Given the description of an element on the screen output the (x, y) to click on. 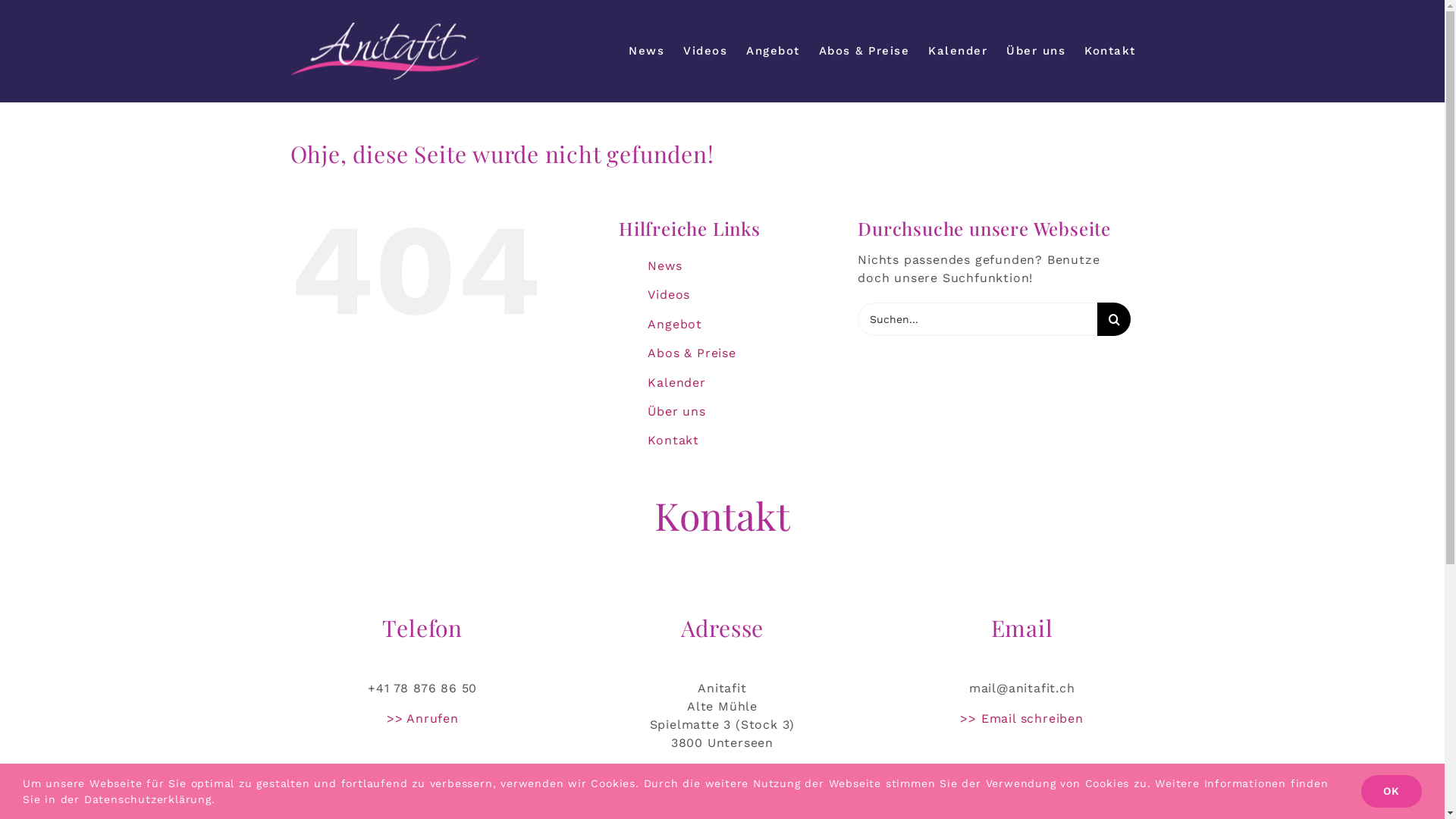
Kalender Element type: text (957, 51)
Kontakt Element type: text (1109, 51)
Abos & Preise Element type: text (864, 51)
News Element type: text (646, 51)
Kalender Element type: text (676, 382)
News Element type: text (664, 265)
>> Anrufen Element type: text (422, 718)
OK Element type: text (1391, 791)
Angebot Element type: text (773, 51)
Angebot Element type: text (674, 323)
>> Email schreiben Element type: text (1021, 718)
Abos & Preise Element type: text (691, 352)
Videos Element type: text (668, 294)
Kontakt Element type: text (673, 440)
Videos Element type: text (705, 51)
>> Standort anzeigen Element type: text (722, 772)
